Given the description of an element on the screen output the (x, y) to click on. 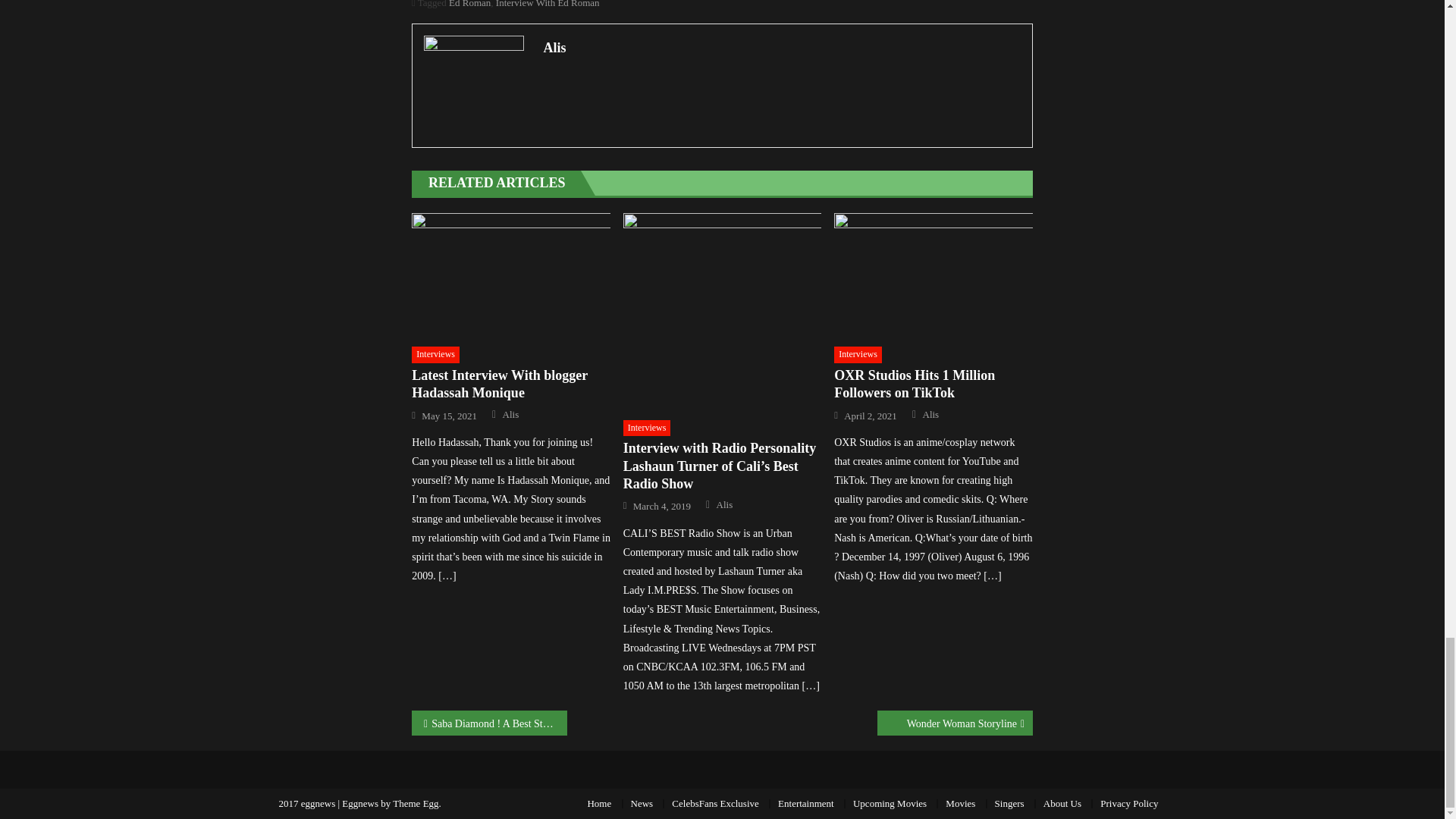
Ed Roman (469, 4)
OXR Studios Hits 1 Million Followers on TikTok (933, 274)
Alis (781, 47)
Interview With Ed Roman (547, 4)
Latest Interview With blogger Hadassah Monique (511, 274)
